Given the description of an element on the screen output the (x, y) to click on. 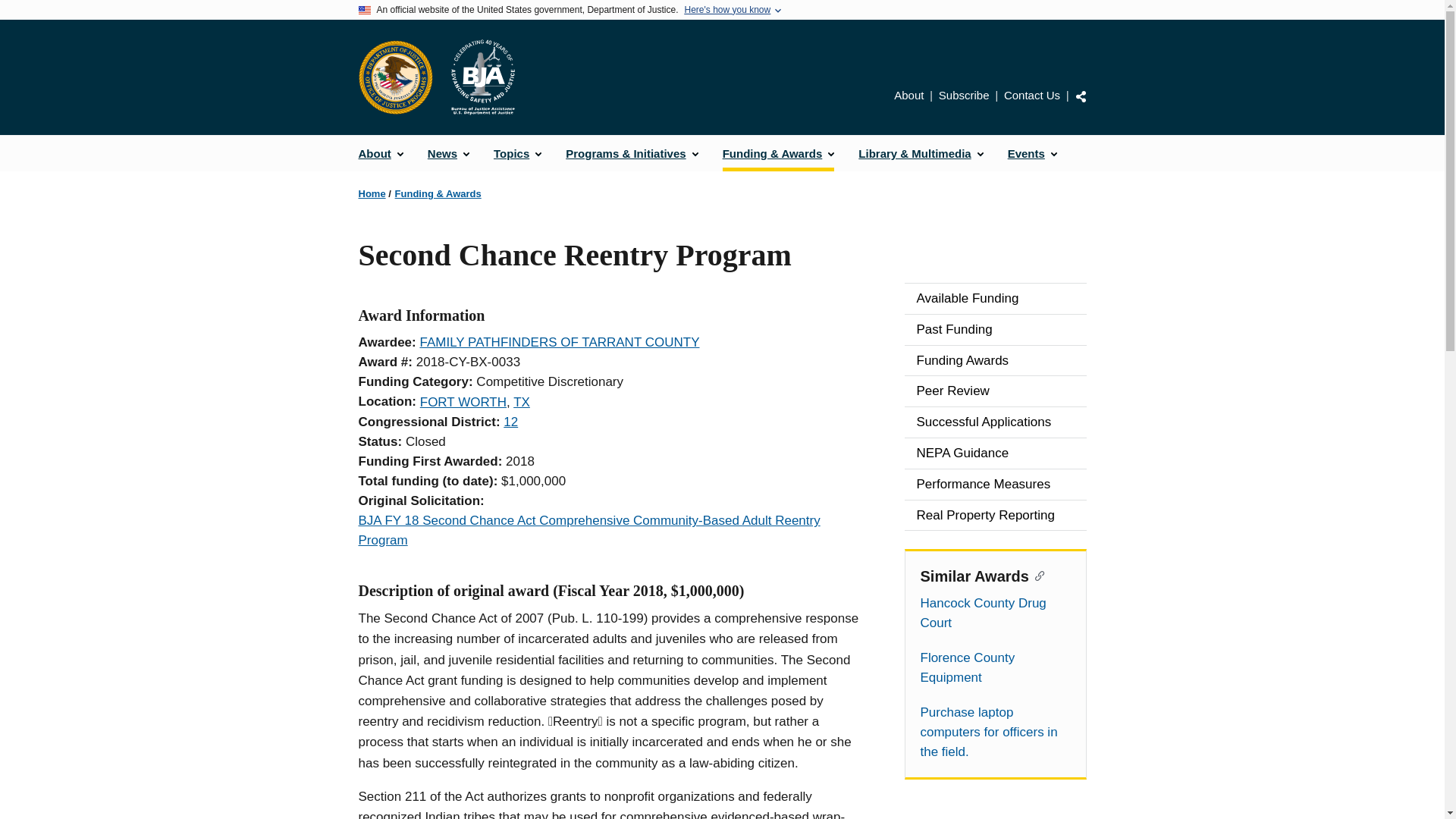
Events (1031, 153)
Topics (517, 153)
Real Property Reporting (995, 515)
Share (1080, 96)
12 (510, 421)
Home (371, 193)
Past Funding (995, 329)
Hancock County Drug Court (995, 613)
About (908, 94)
Performance Measures (995, 484)
Contact Us (1031, 94)
News (447, 153)
FAMILY PATHFINDERS OF TARRANT COUNTY (558, 341)
Subscribe (964, 94)
